Given the description of an element on the screen output the (x, y) to click on. 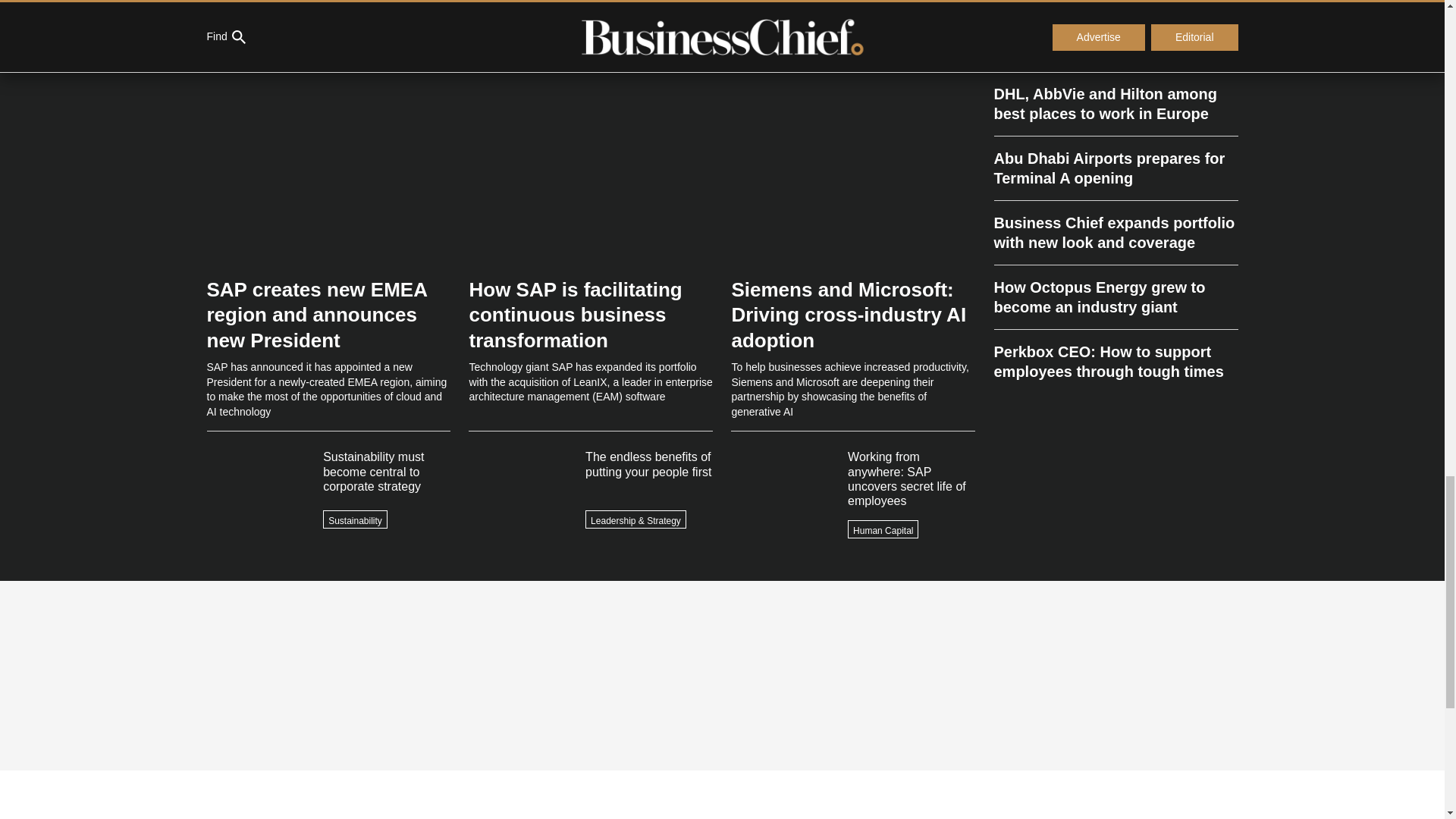
Abu Dhabi Airports prepares for Terminal A opening (1114, 168)
DHL, AbbVie and Hilton among best places to work in Europe (1114, 110)
How Octopus Energy grew to become an industry giant (1114, 297)
Perkbox CEO: How to support employees through tough times (1114, 355)
Business Chief expands portfolio with new look and coverage (1114, 232)
